Given the description of an element on the screen output the (x, y) to click on. 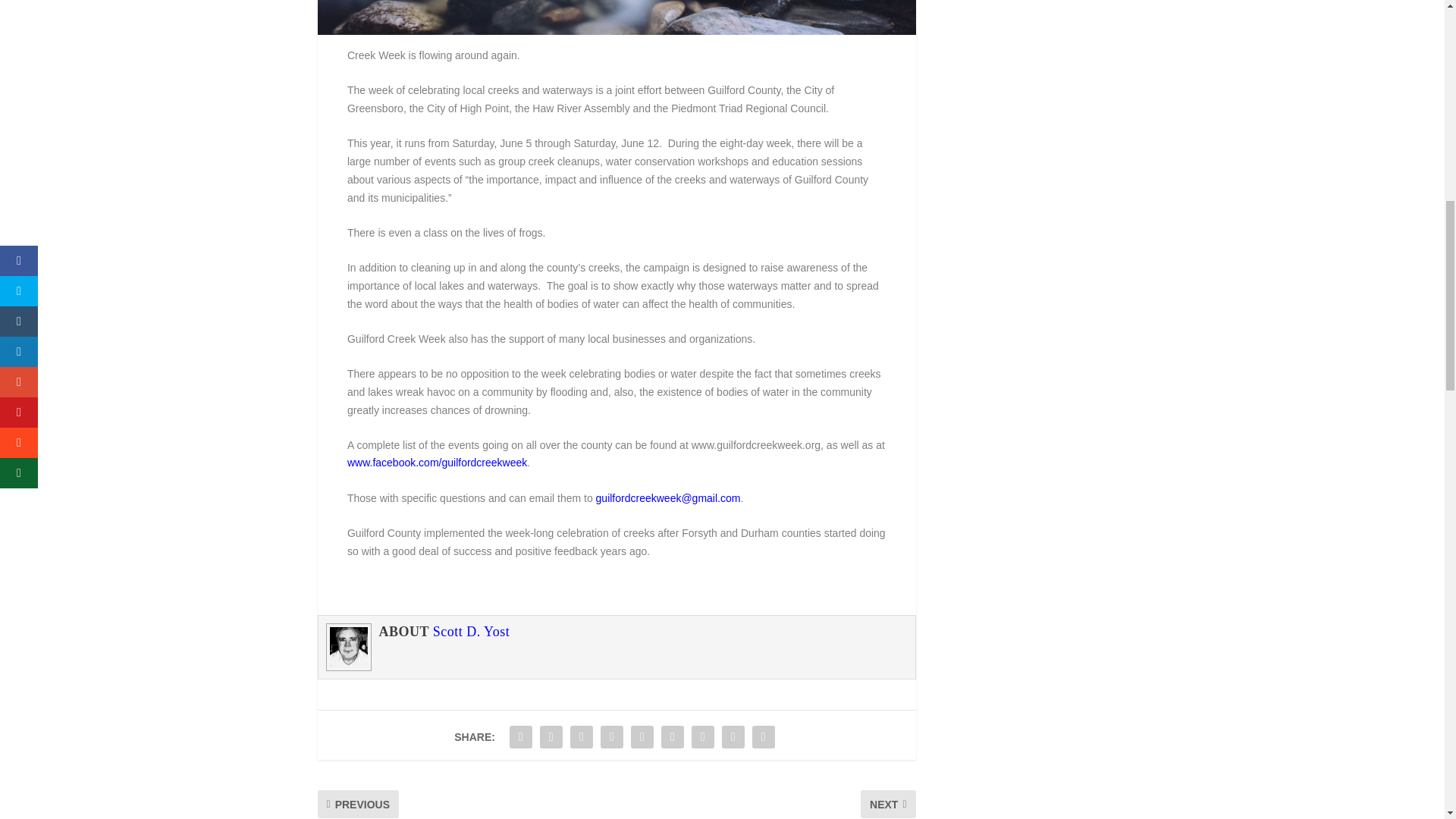
Scott D. Yost (471, 631)
